Given the description of an element on the screen output the (x, y) to click on. 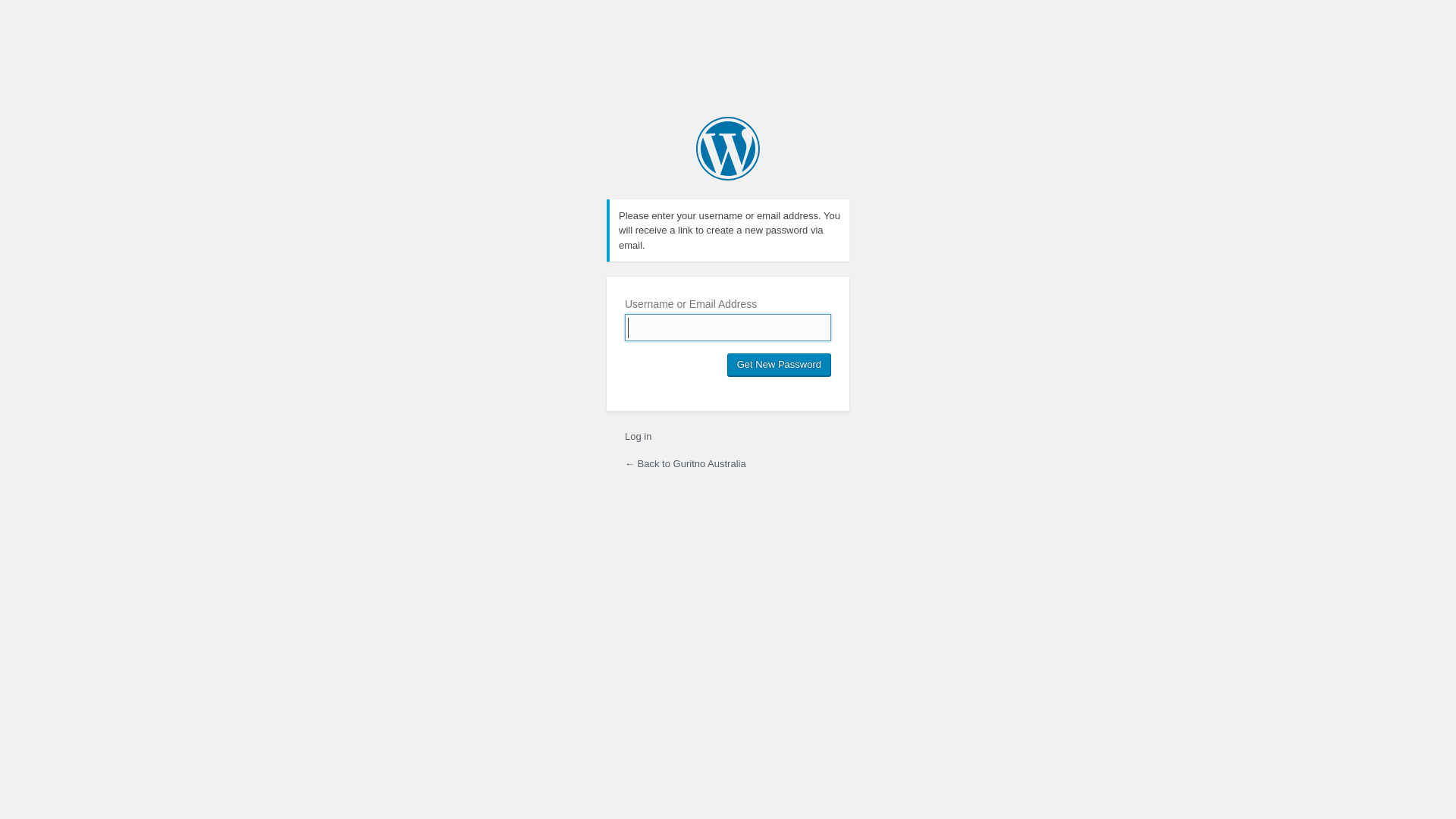
Get New Password Element type: text (779, 364)
Guritno Australia Element type: text (727, 148)
Log in Element type: text (637, 436)
